Given the description of an element on the screen output the (x, y) to click on. 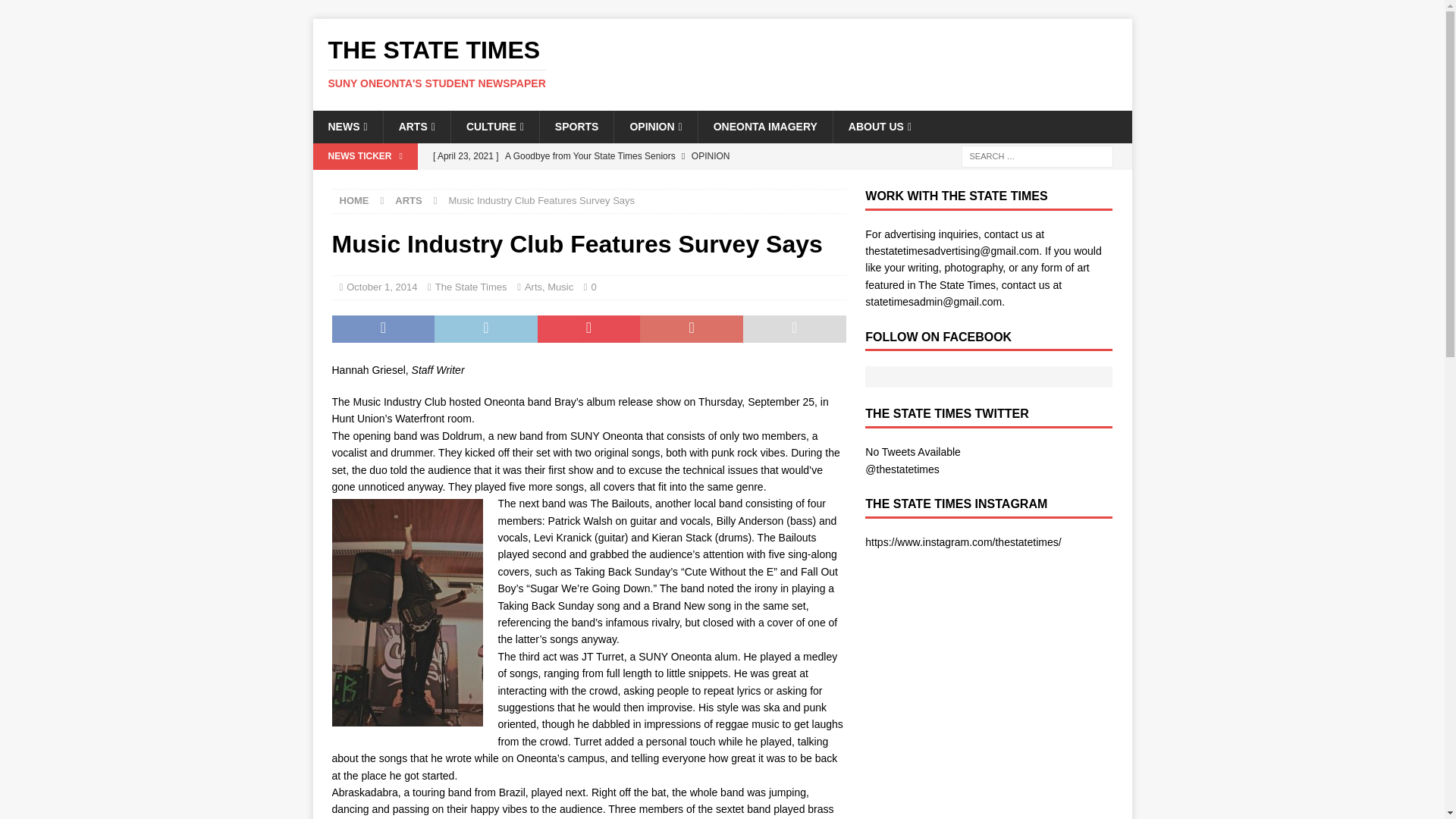
SPORTS (576, 126)
OPINION (654, 126)
ONEONTA IMAGERY (764, 126)
Arts (532, 286)
The State Times (721, 63)
The State Times (470, 286)
Search (56, 11)
ABOUT US (879, 126)
ARTS (415, 126)
October 1, 2014 (721, 63)
0 (381, 286)
NEWS (593, 286)
ARTS (347, 126)
A Farewell from Your State Times Seniors (408, 200)
